Given the description of an element on the screen output the (x, y) to click on. 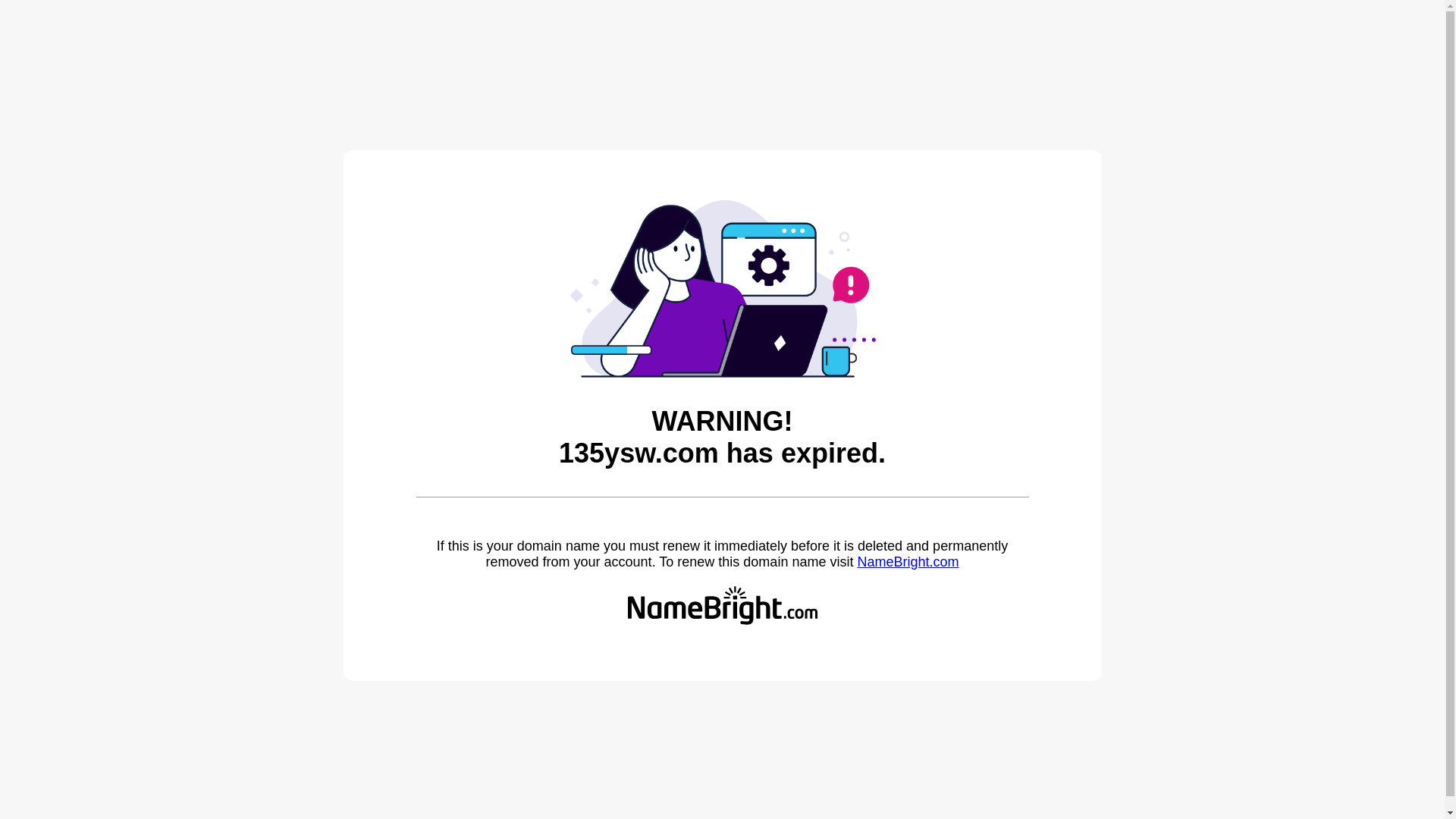
NameBright.com Element type: text (907, 561)
